Given the description of an element on the screen output the (x, y) to click on. 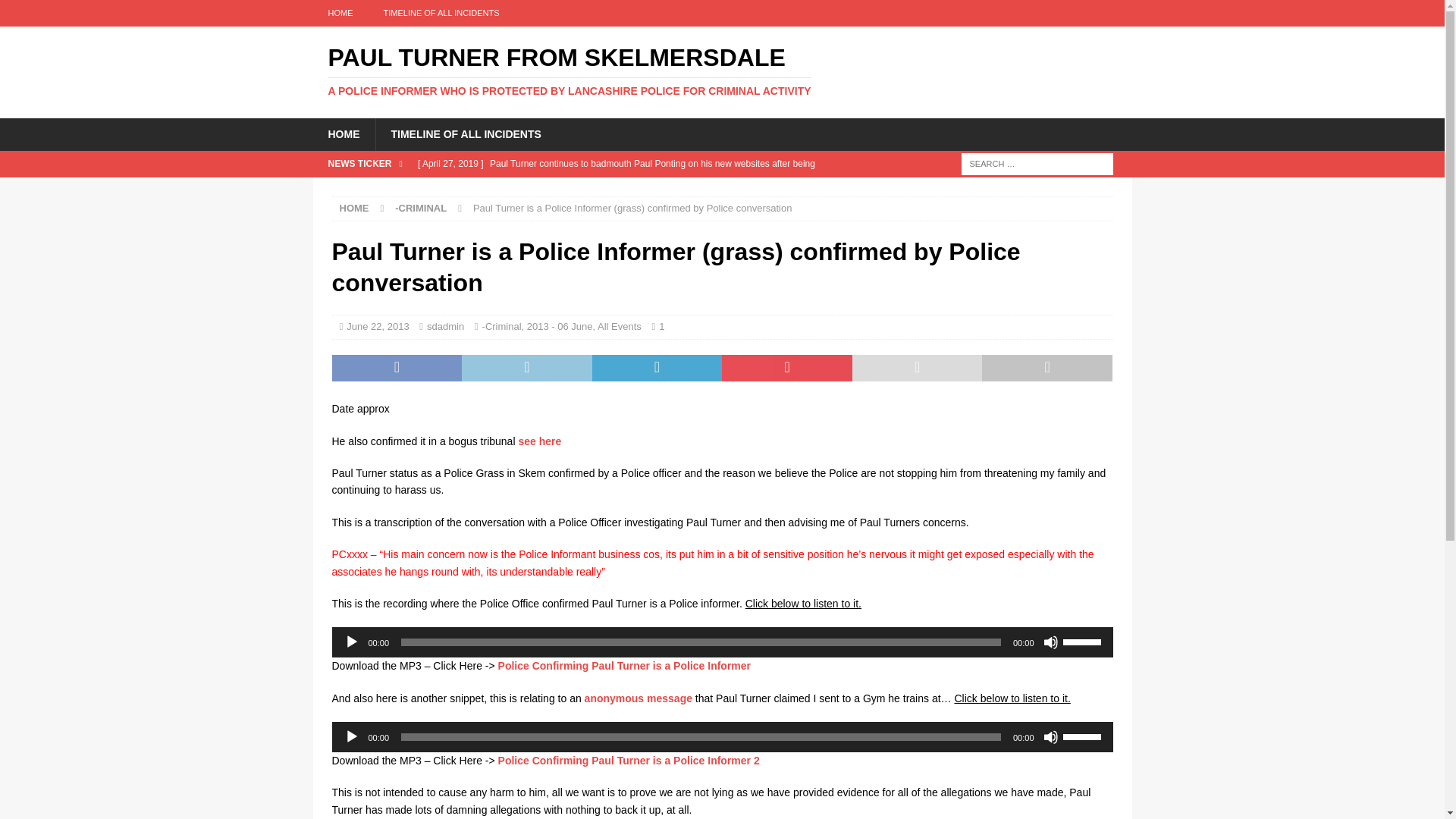
June 22, 2013 (377, 326)
Play (351, 642)
sdadmin (445, 326)
HOME (354, 207)
TIMELINE OF ALL INCIDENTS (441, 13)
Paul Turner from Skelmersdale (721, 71)
Police Confirming Paul Turner is a Police Informer (624, 665)
Mute (1050, 642)
